Given the description of an element on the screen output the (x, y) to click on. 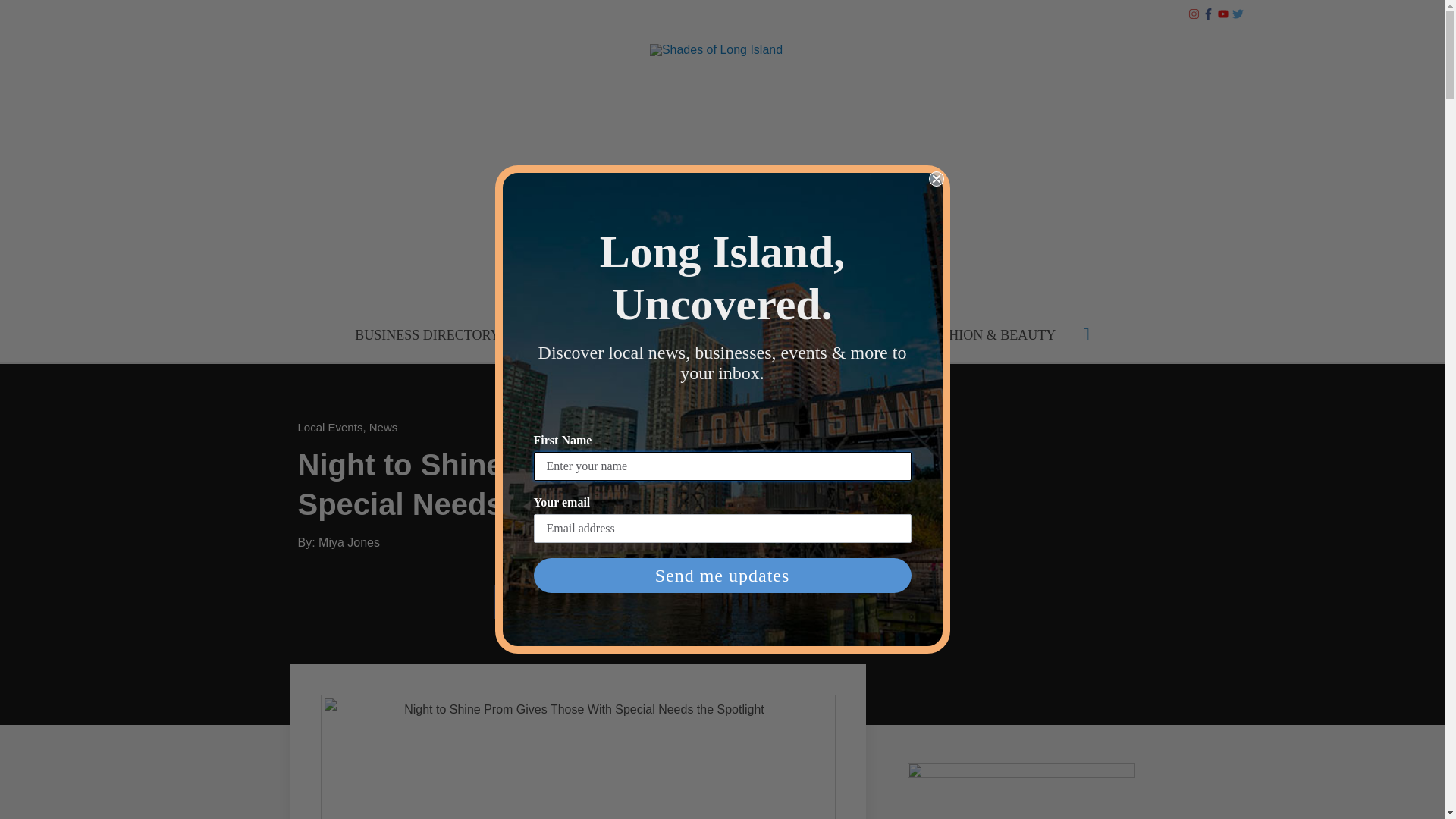
BUSINESS DIRECTORY (260, 15)
ARTS (771, 334)
BUSINESS DIRECTORY (426, 334)
SUBSCRIBE TO OUR NEWSLETTER (533, 15)
LIFESTYLE (856, 334)
ENTERTAINMENT (665, 334)
WRITE FOR US (778, 15)
ADVERTISE (377, 15)
NEWS (552, 334)
REGISTER (684, 15)
